Given the description of an element on the screen output the (x, y) to click on. 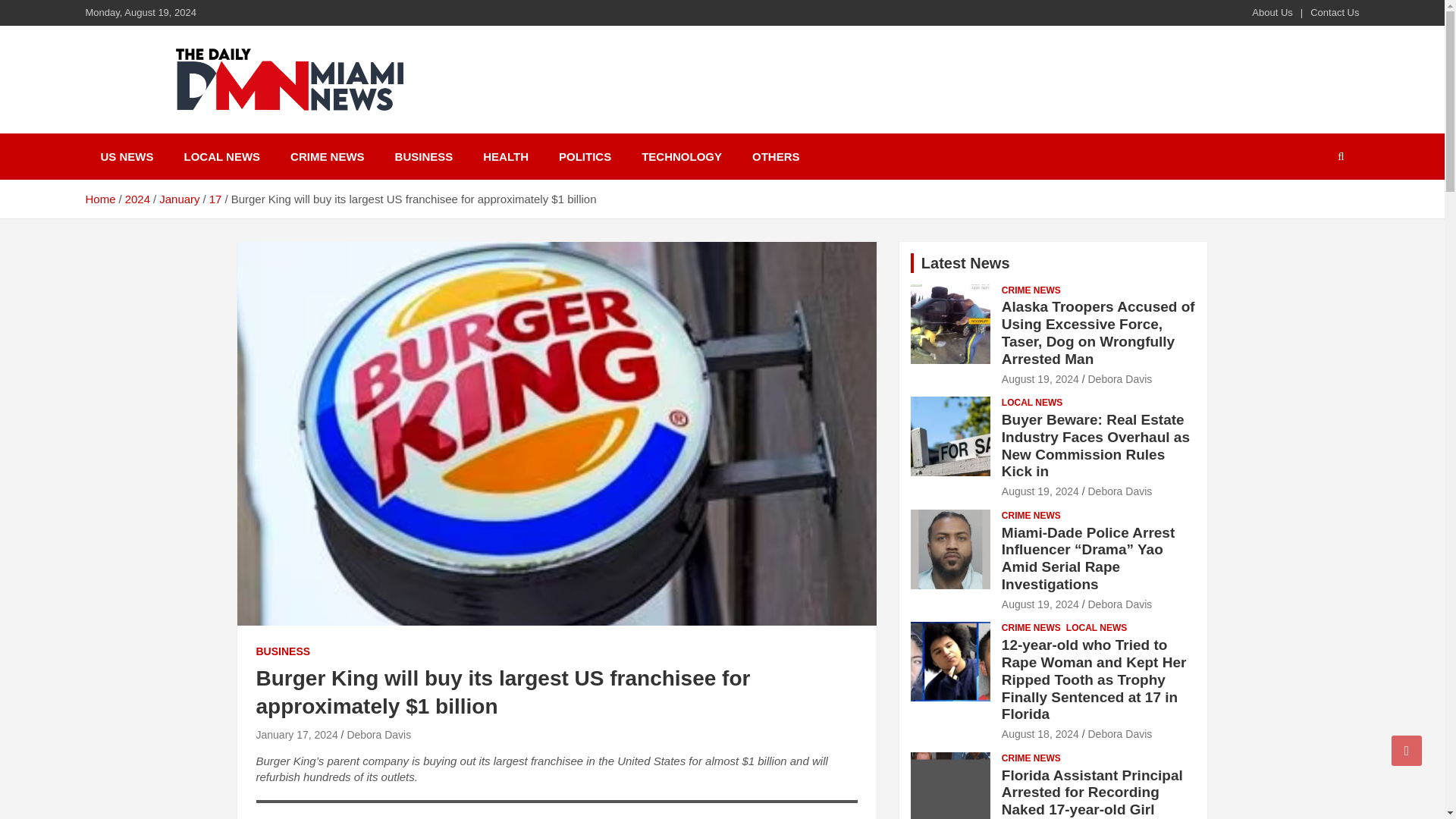
August 19, 2024 (1039, 491)
BUSINESS (283, 652)
CRIME NEWS (1031, 290)
Home (99, 198)
January 17, 2024 (296, 734)
January (178, 198)
Latest News (965, 262)
LOCAL NEWS (1031, 402)
Debora Davis (378, 734)
